Given the description of an element on the screen output the (x, y) to click on. 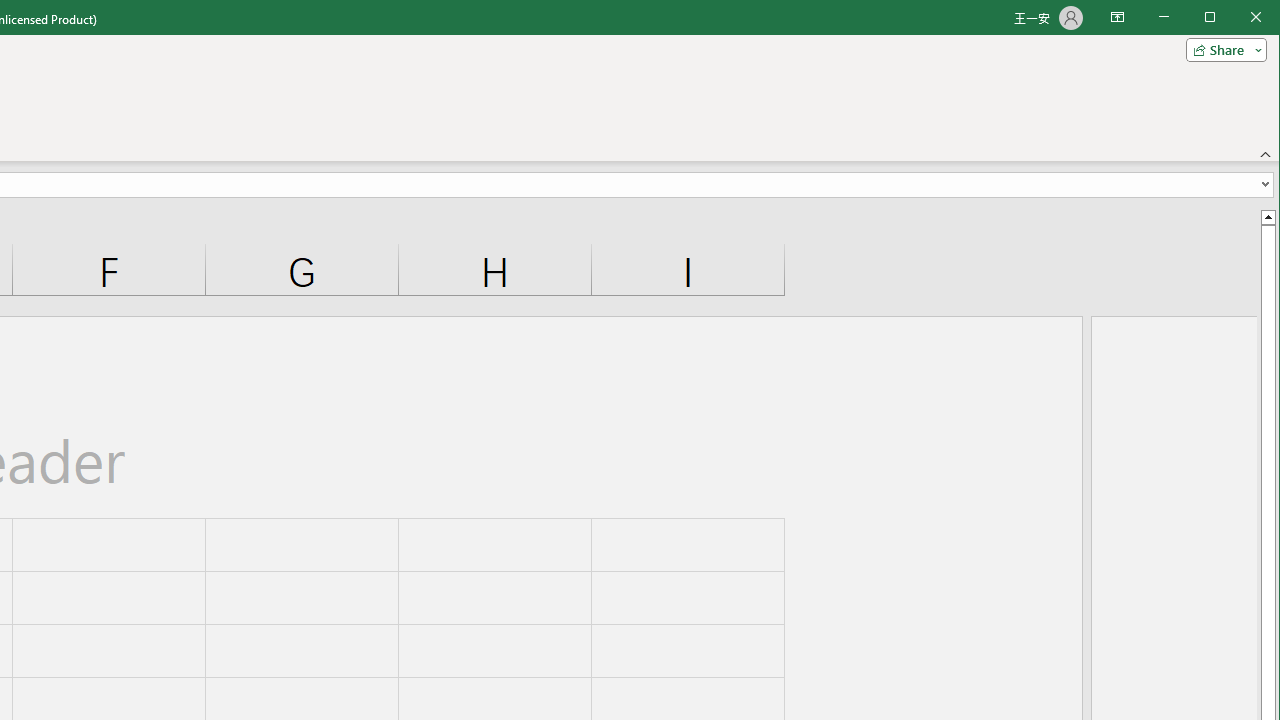
Maximize (1238, 18)
